Given the description of an element on the screen output the (x, y) to click on. 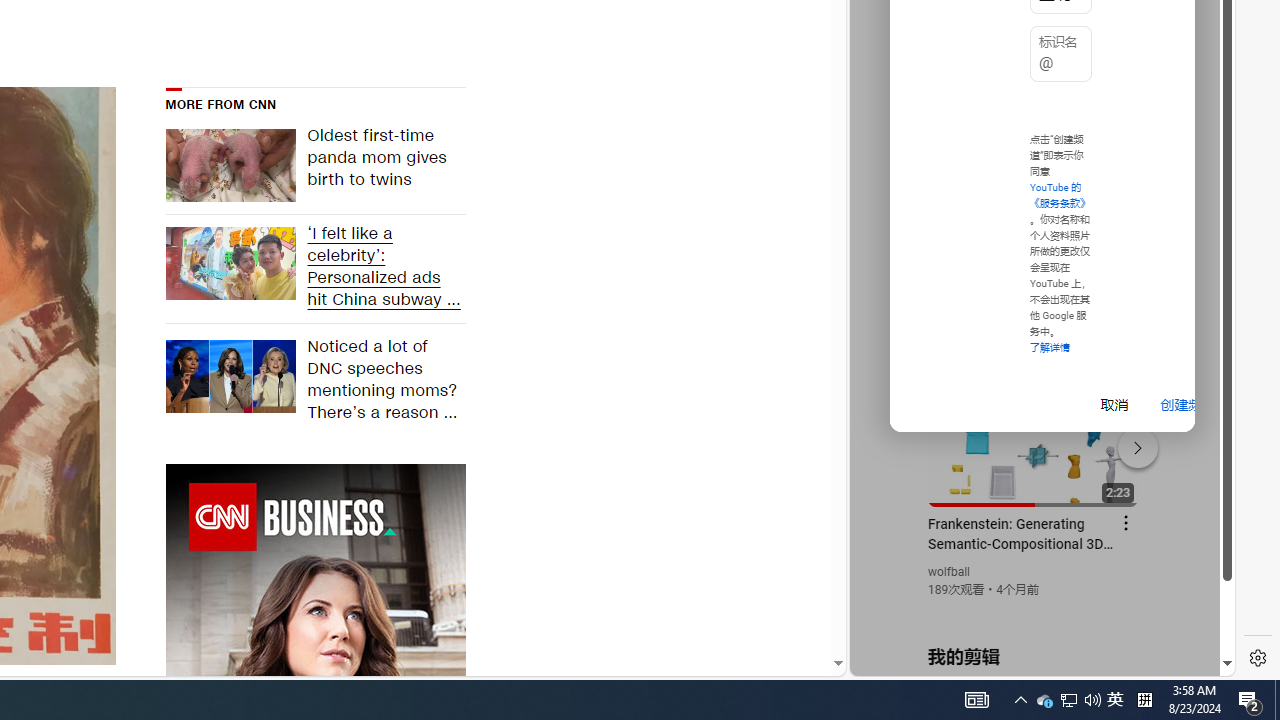
US[ju] (917, 660)
Click to scroll right (1196, 83)
YouTube - YouTube (1034, 266)
wolfball (949, 572)
Actions for this site (1131, 443)
YouTube (1034, 432)
